Given the description of an element on the screen output the (x, y) to click on. 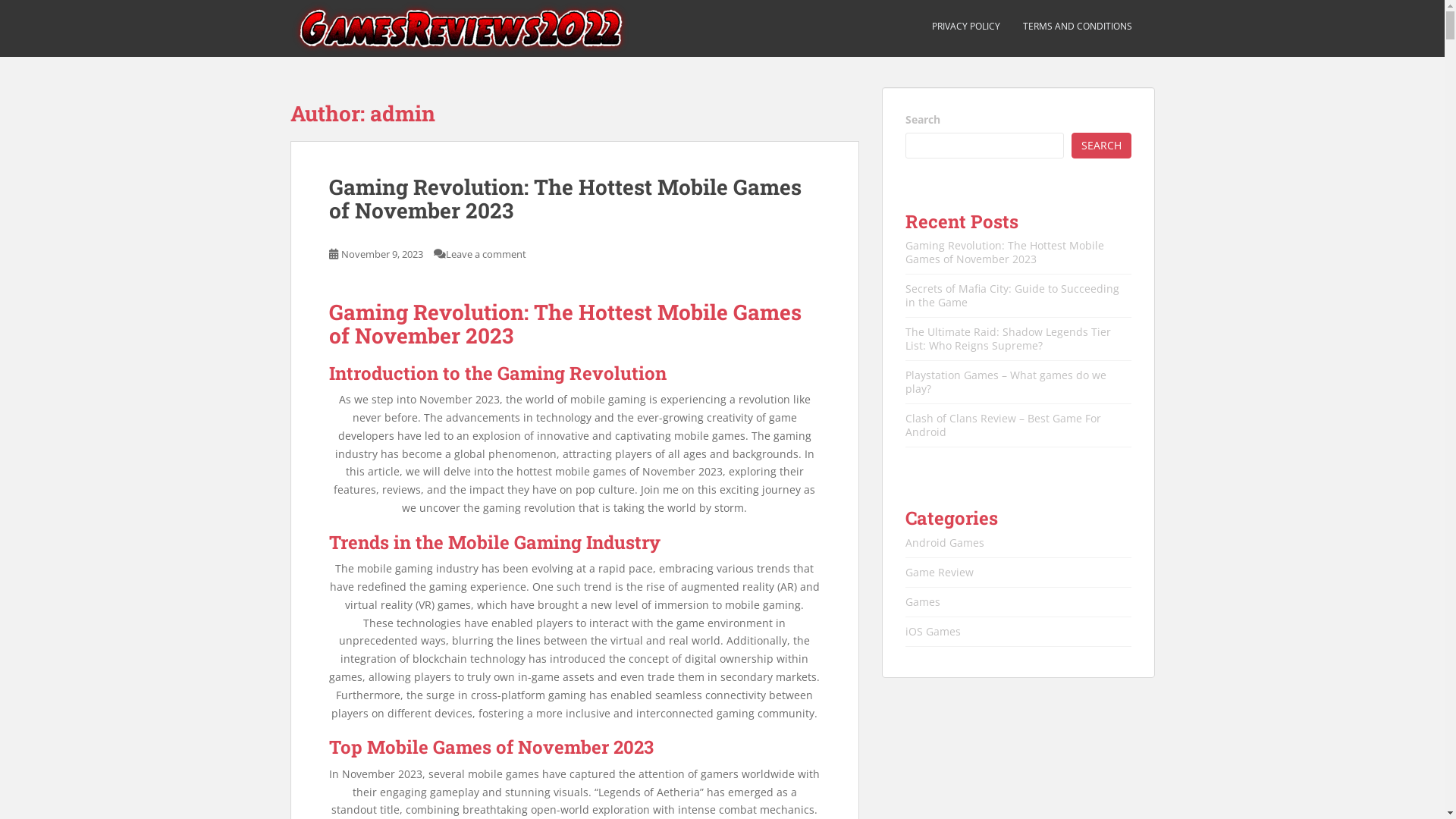
November 9, 2023 Element type: text (382, 253)
Secrets of Mafia City: Guide to Succeeding in the Game Element type: text (1012, 295)
iOS Games Element type: text (932, 631)
Game Review Element type: text (939, 571)
PRIVACY POLICY Element type: text (965, 26)
TERMS AND CONDITIONS Element type: text (1076, 26)
Leave a comment Element type: text (485, 253)
Games Element type: text (922, 601)
SEARCH Element type: text (1100, 145)
Android Games Element type: text (944, 542)
